Given the description of an element on the screen output the (x, y) to click on. 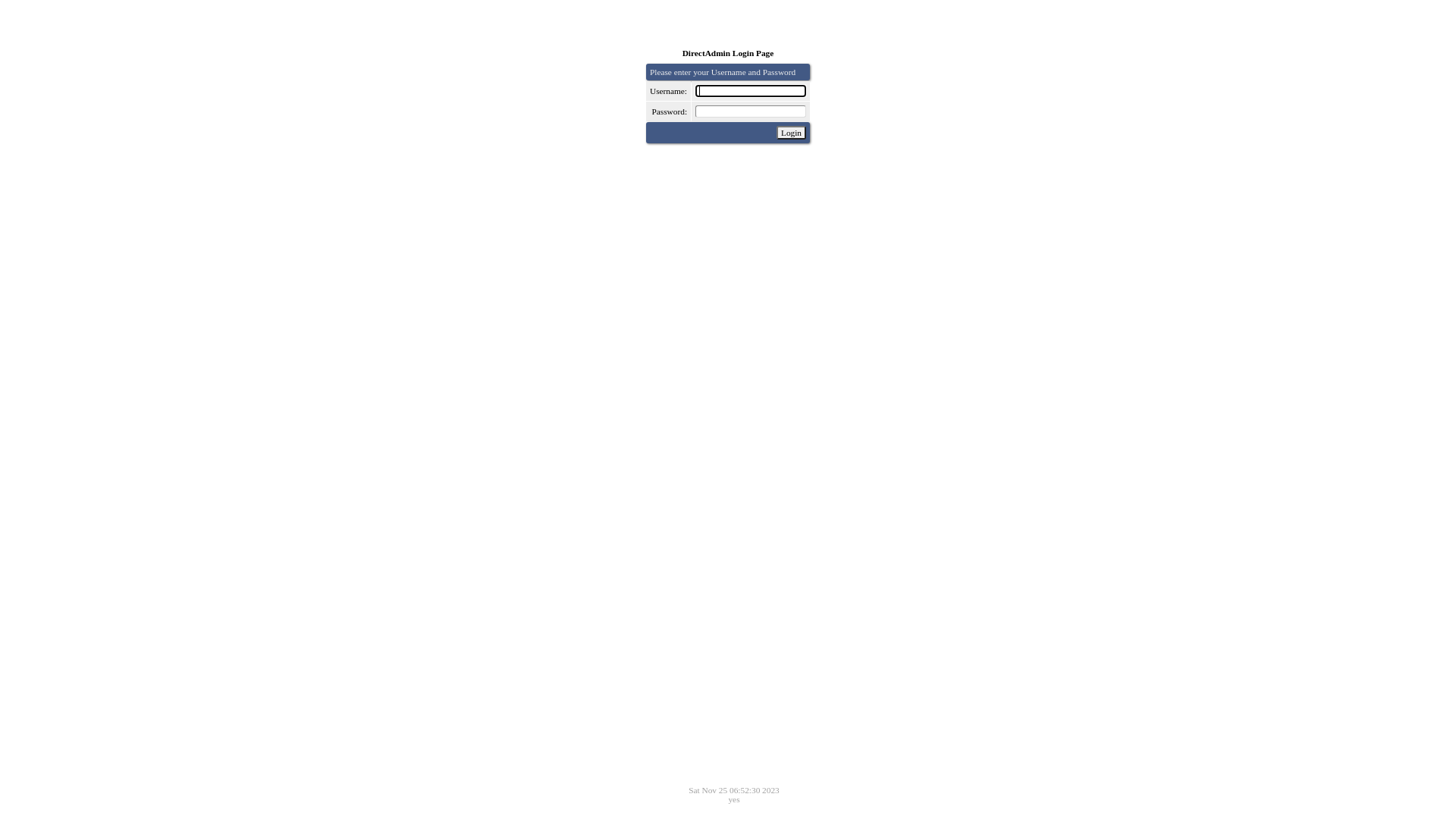
Login Element type: text (791, 132)
